Given the description of an element on the screen output the (x, y) to click on. 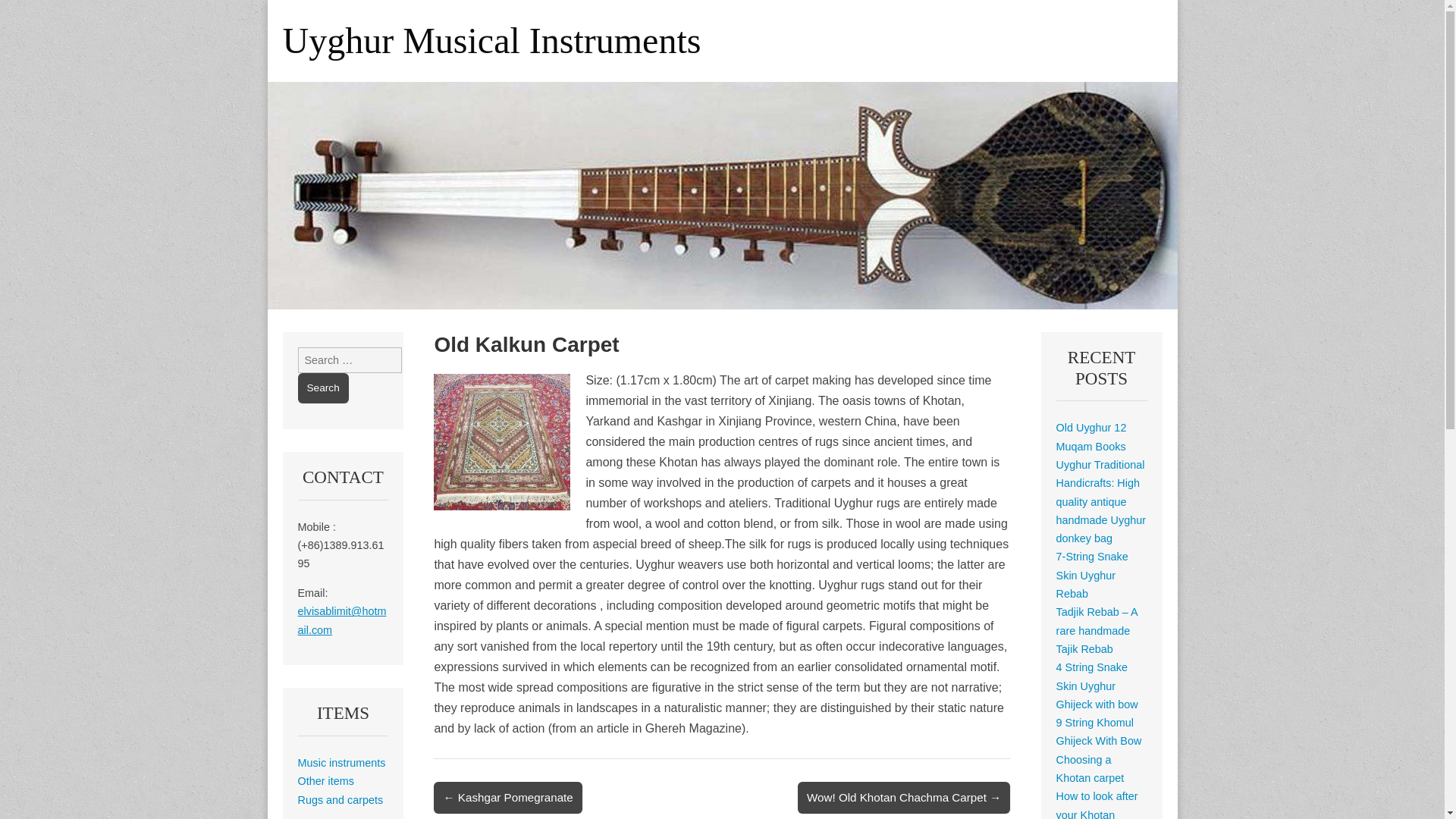
7-String Snake Skin Uyghur Rebab (1092, 574)
Search (322, 388)
Old Kalkun Carpet (501, 441)
Uyghur Musical Instruments (491, 40)
Rugs and carpets (339, 799)
Old Uyghur 12 Muqam Books (1091, 436)
4 String Snake Skin Uyghur Ghijeck with bow (1097, 685)
Music instruments (341, 762)
Choosing a Khotan carpet (1090, 768)
Search (322, 388)
How to look after your Khotan carpet (1097, 804)
